Given the description of an element on the screen output the (x, y) to click on. 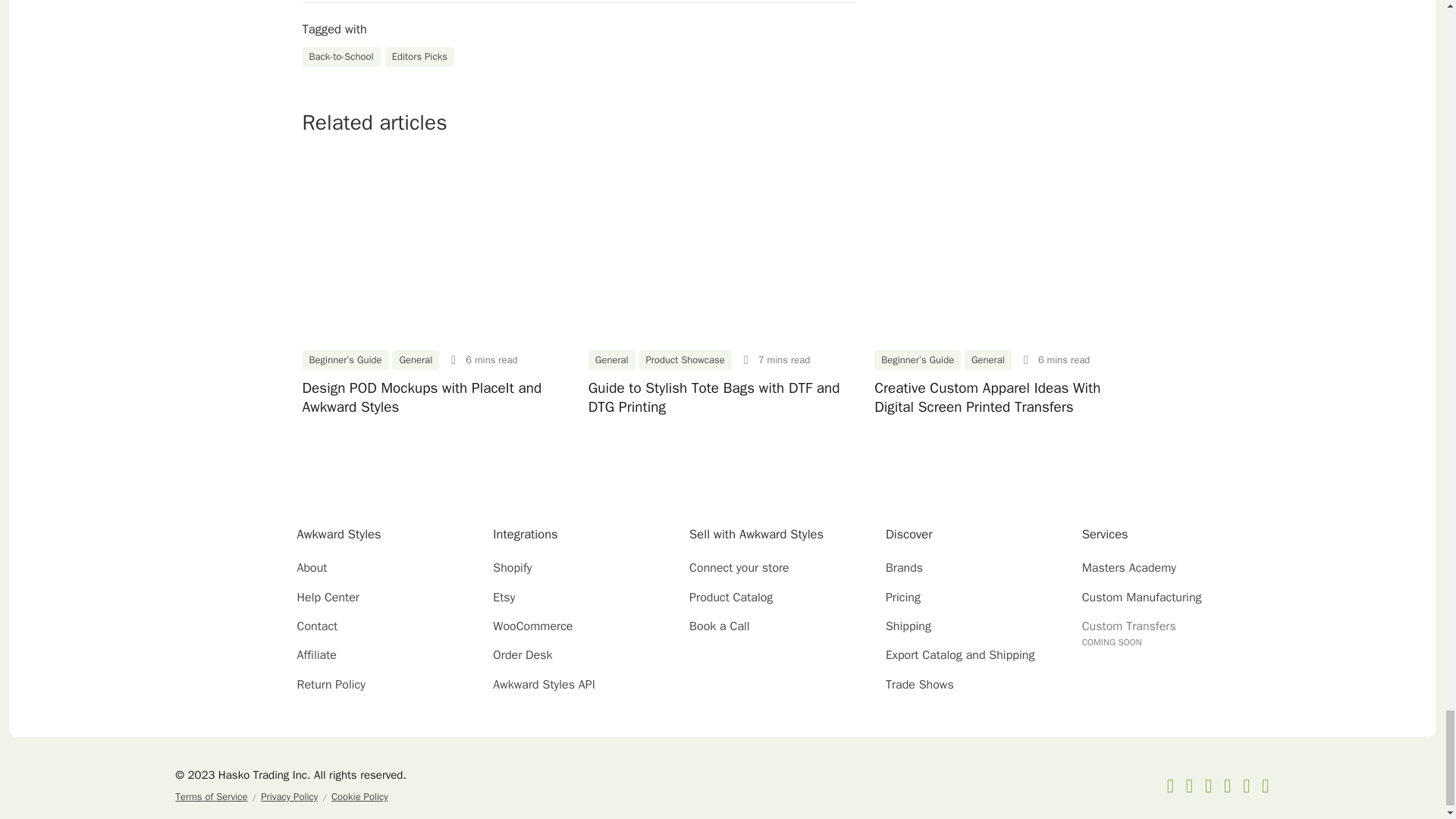
Back-to-School (340, 56)
Editors Picks (419, 56)
